Given the description of an element on the screen output the (x, y) to click on. 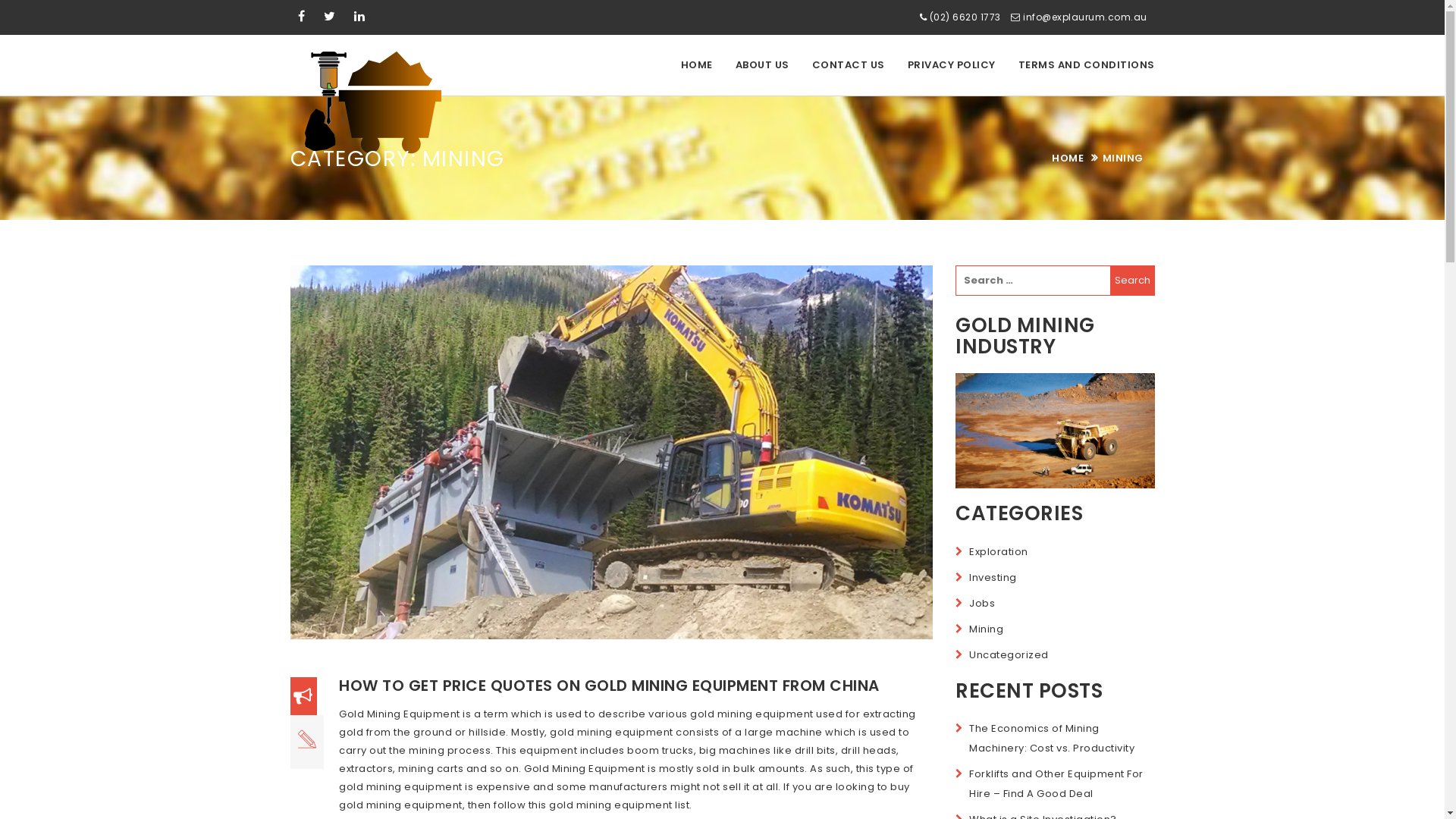
The Economics of Mining Machinery: Cost vs. Productivity Element type: text (1051, 738)
Jobs Element type: text (981, 603)
CONTACT US Element type: text (848, 64)
ABOUT US Element type: text (761, 64)
Exploration Element type: text (998, 551)
Investing Element type: text (992, 577)
HOME Element type: text (1067, 157)
PRIVACY POLICY Element type: text (951, 64)
HOW TO GET PRICE QUOTES ON GOLD MINING EQUIPMENT FROM CHINA Element type: text (608, 685)
Mining Element type: text (986, 628)
TERMS AND CONDITIONS Element type: text (1086, 64)
Uncategorized Element type: text (1008, 654)
Search Element type: text (1132, 280)
HOME Element type: text (695, 64)
